Given the description of an element on the screen output the (x, y) to click on. 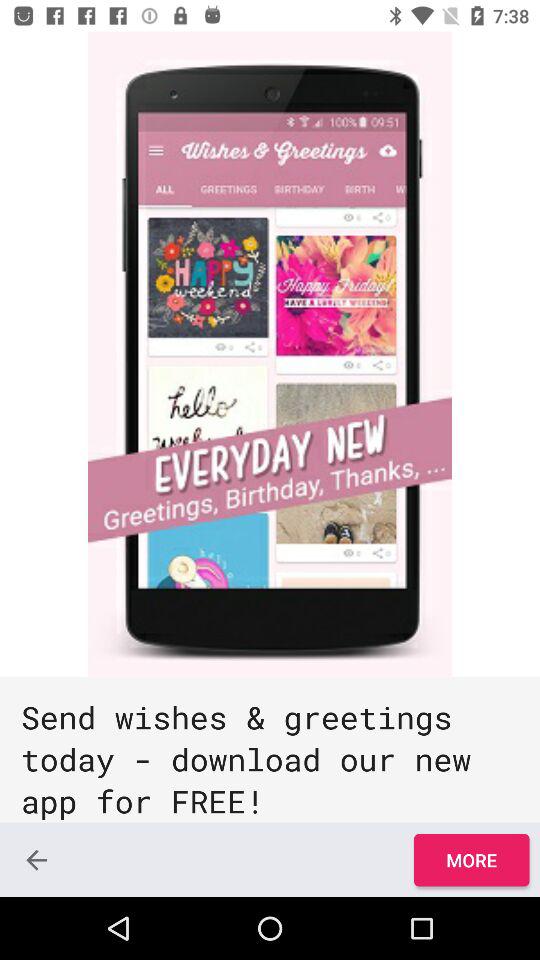
turn off item below the send wishes greetings icon (471, 859)
